Given the description of an element on the screen output the (x, y) to click on. 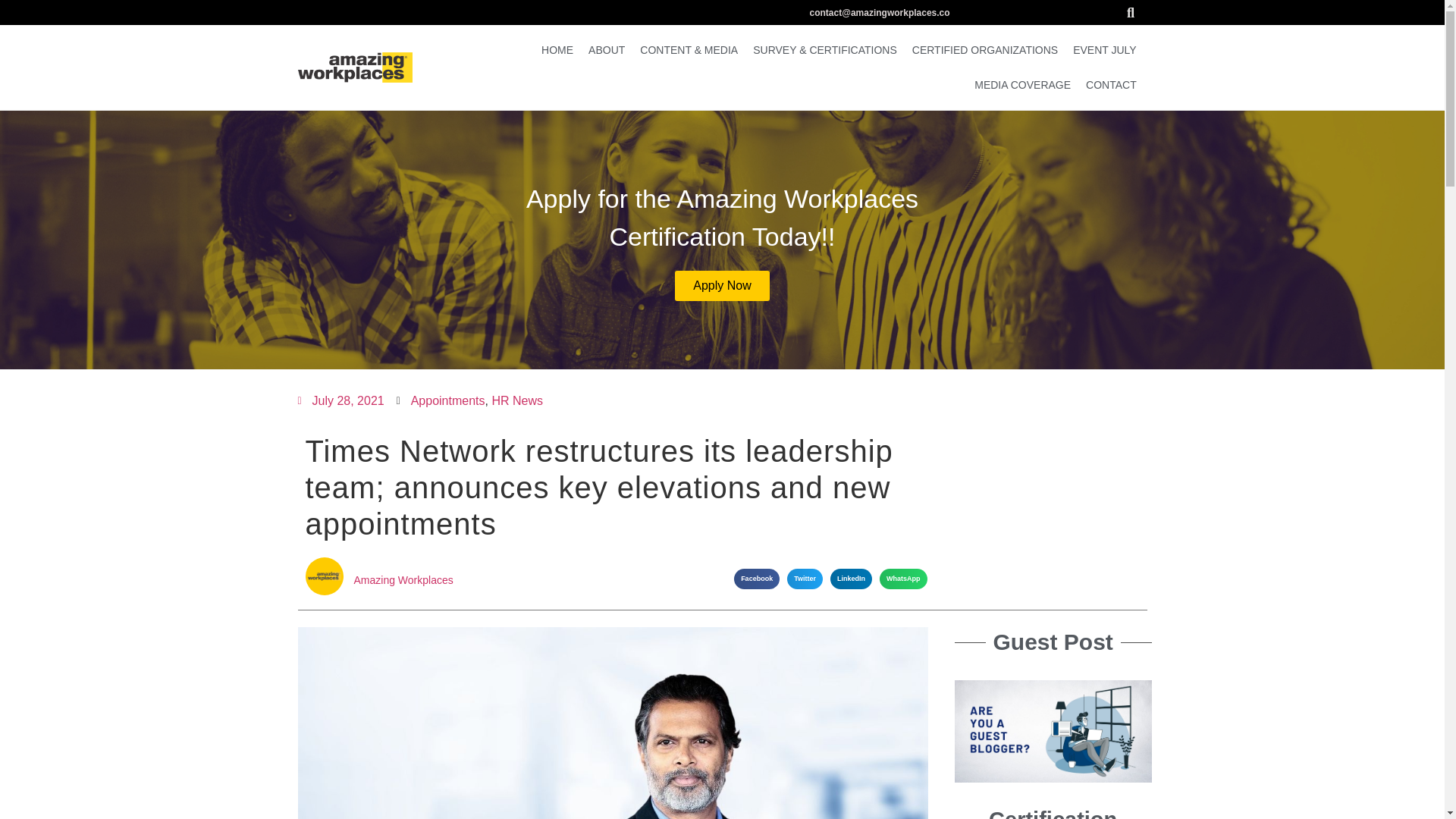
ABOUT (605, 49)
Amazing Workplaces (533, 580)
MEDIA COVERAGE (1022, 84)
Apply Now (721, 285)
HR News (517, 400)
HOME (557, 49)
Appointments (447, 400)
EVENT JULY (1104, 49)
CERTIFIED ORGANIZATIONS (984, 49)
CONTACT (1111, 84)
July 28, 2021 (340, 401)
